Given the description of an element on the screen output the (x, y) to click on. 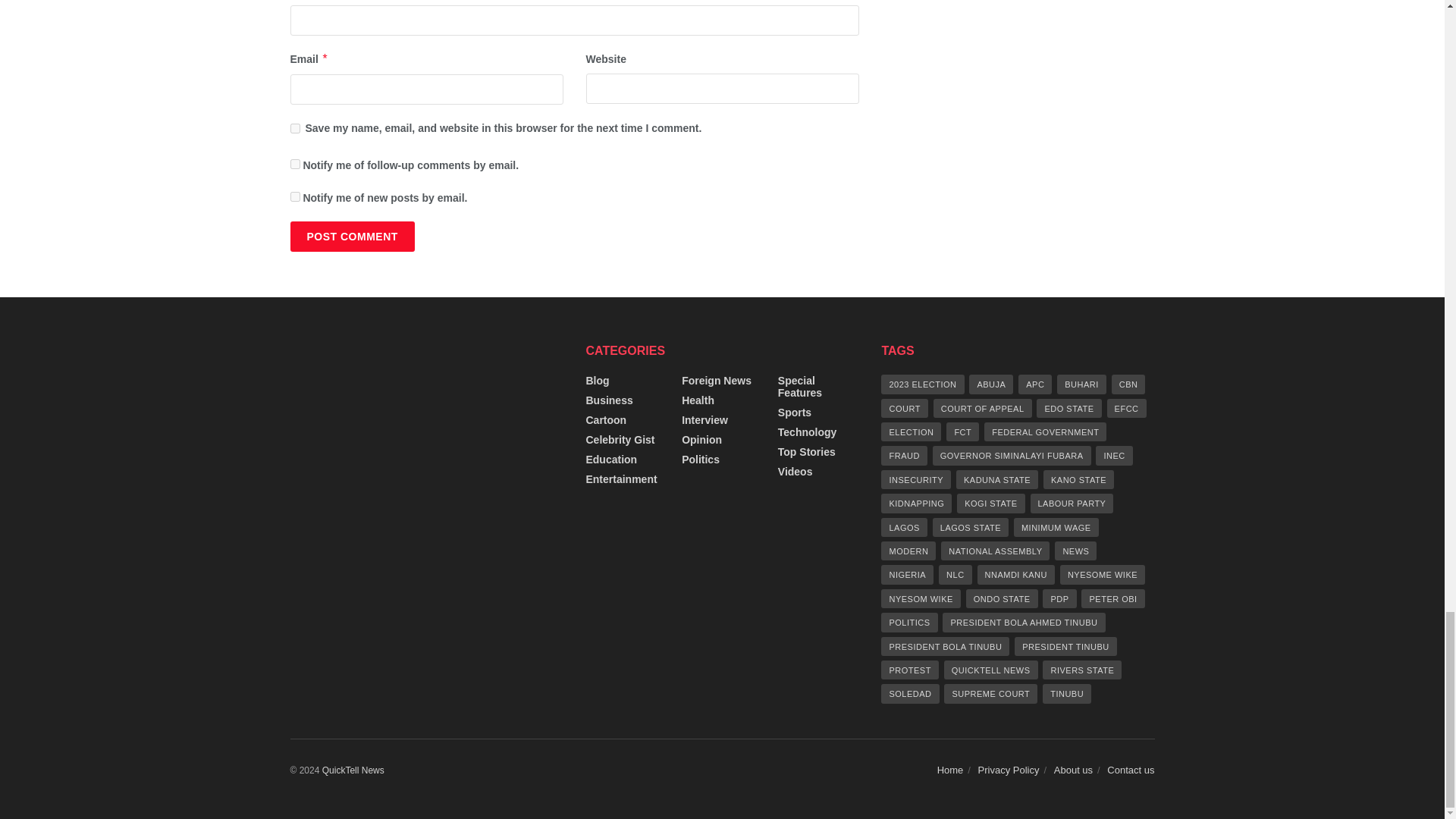
Post Comment (351, 236)
Quicktell News (352, 769)
subscribe (294, 163)
yes (294, 128)
subscribe (294, 196)
